Given the description of an element on the screen output the (x, y) to click on. 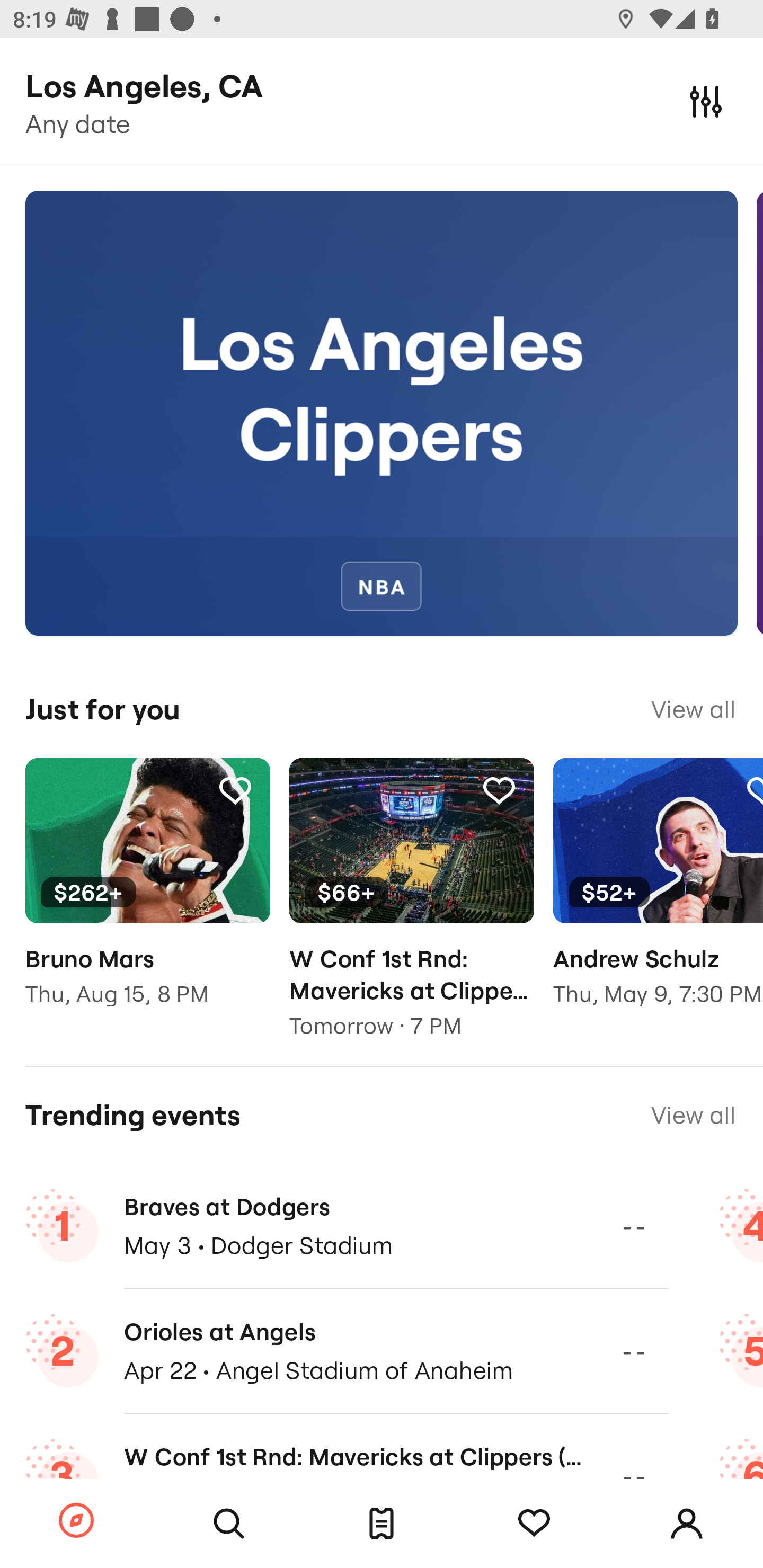
Filters (705, 100)
View all (693, 709)
Tracking $262+ Bruno Mars Thu, Aug 15, 8 PM (147, 895)
Tracking $52+ Andrew Schulz Thu, May 9, 7:30 PM (658, 895)
Tracking (234, 790)
Tracking (498, 790)
View all (693, 1114)
Browse (76, 1521)
Search (228, 1523)
Tickets (381, 1523)
Tracking (533, 1523)
Account (686, 1523)
